Given the description of an element on the screen output the (x, y) to click on. 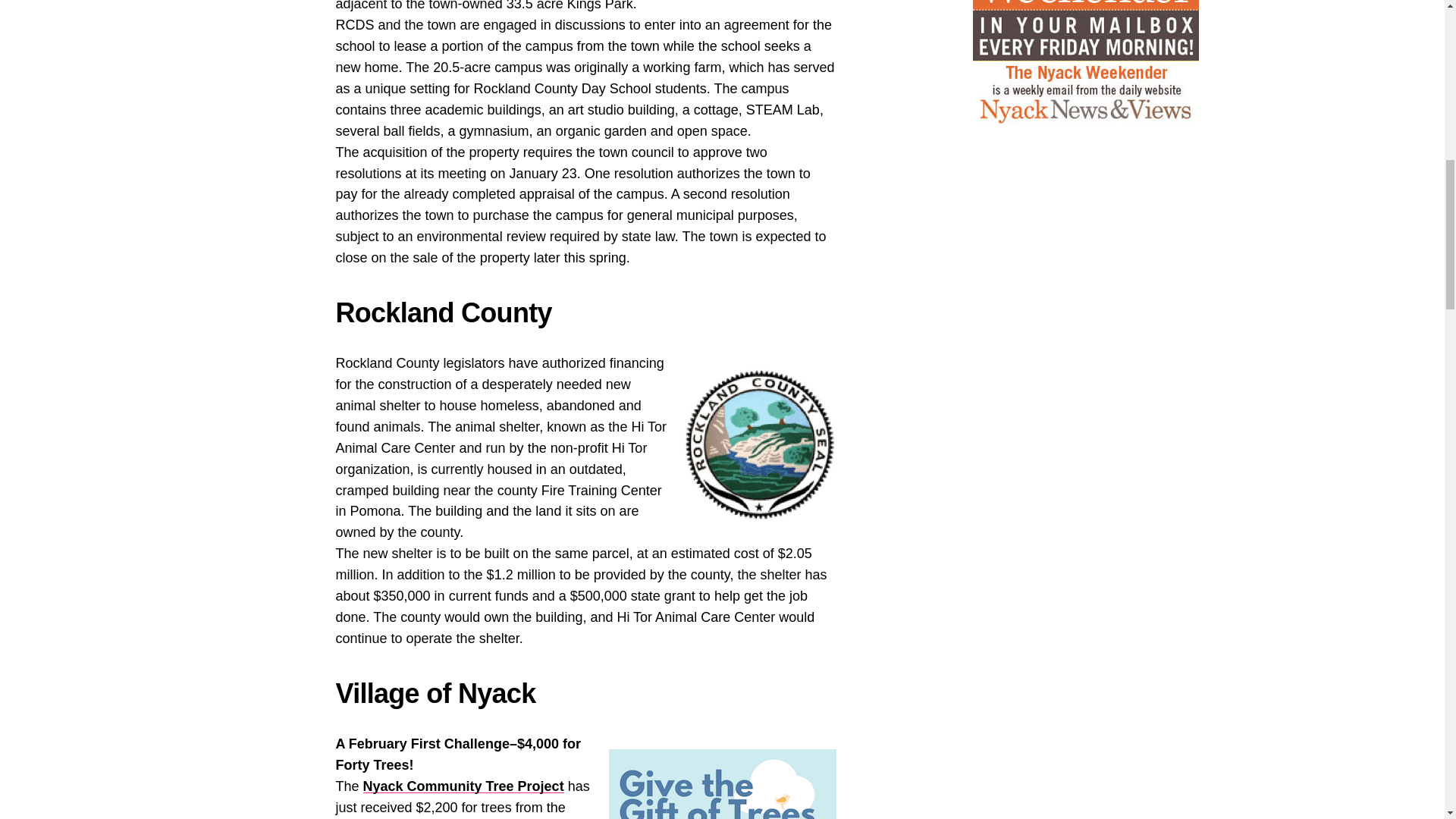
Nyack Community Tree Project (463, 785)
